Given the description of an element on the screen output the (x, y) to click on. 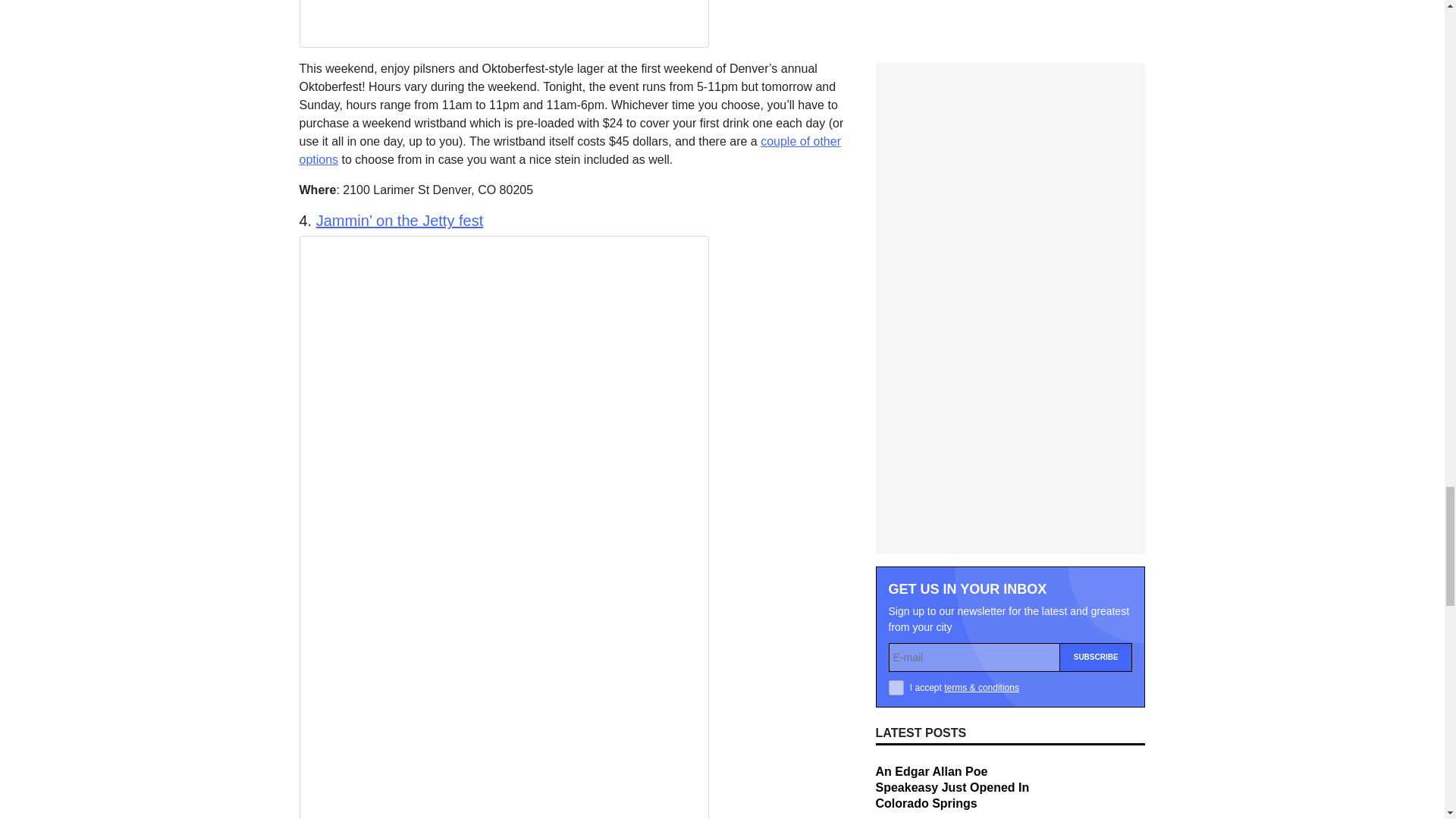
couple of other options (569, 150)
